Given the description of an element on the screen output the (x, y) to click on. 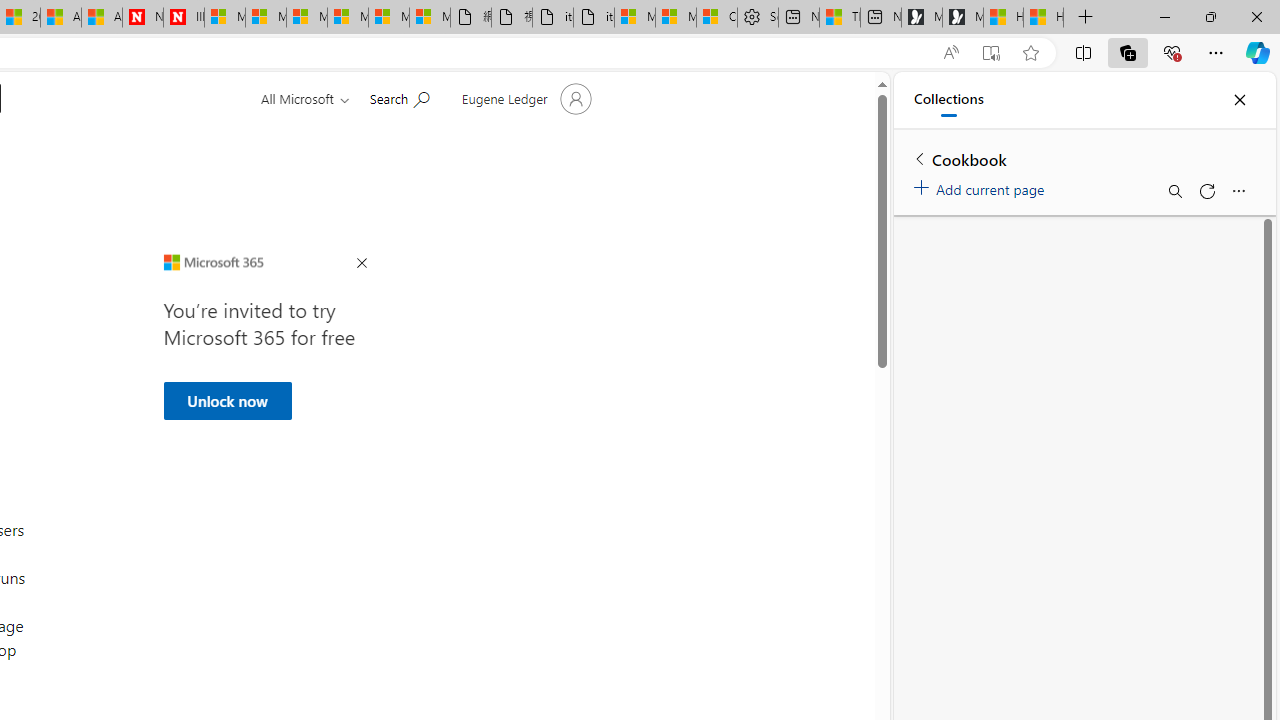
Newsweek - News, Analysis, Politics, Business, Technology (142, 17)
Search for help (399, 97)
Unlock now (226, 399)
Back to list of collections (920, 158)
itconcepthk.com/projector_solutions.mp4 (593, 17)
How to Use a TV as a Computer Monitor (1043, 17)
